Given the description of an element on the screen output the (x, y) to click on. 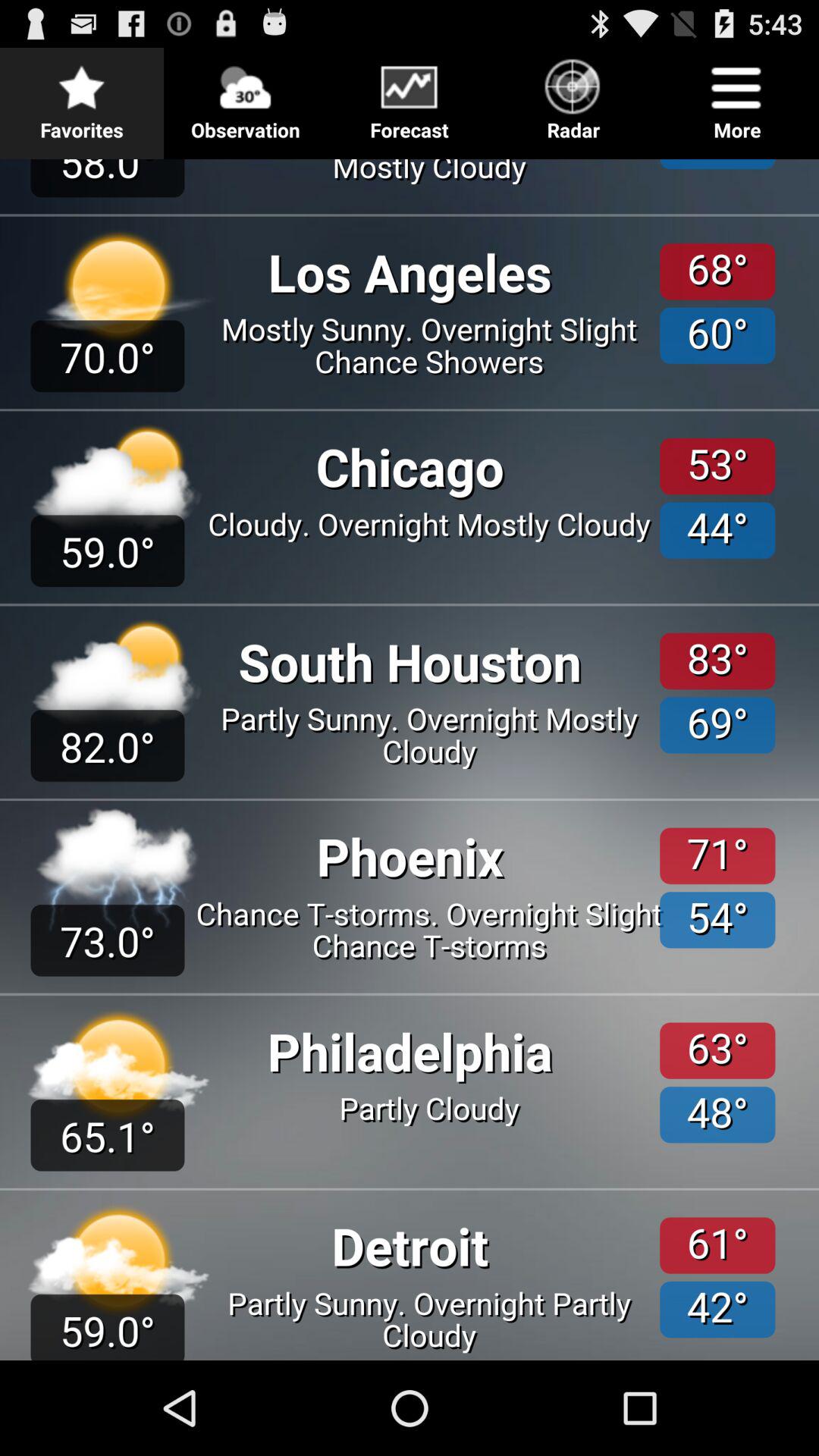
flip until observation (245, 95)
